Given the description of an element on the screen output the (x, y) to click on. 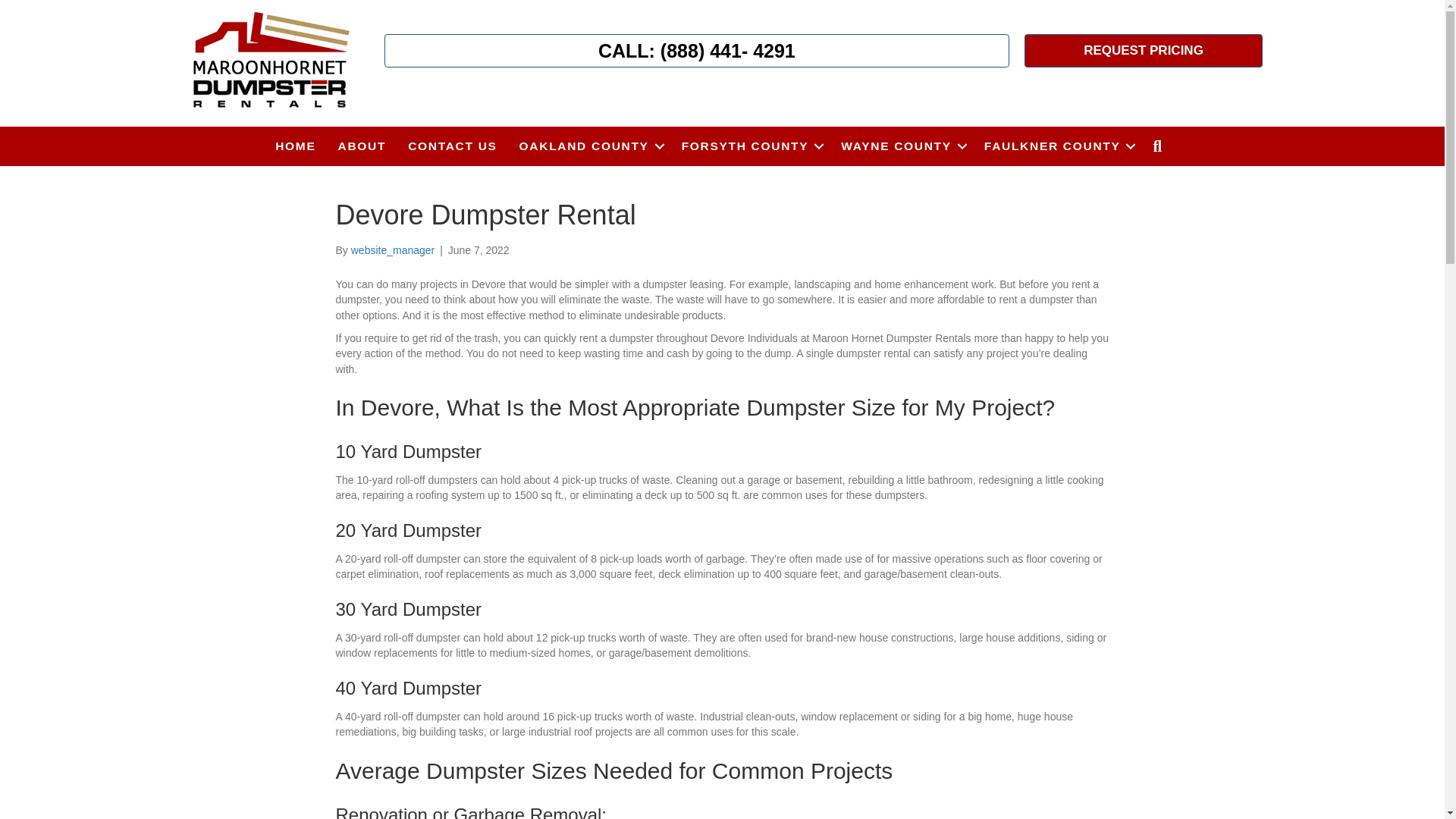
WAYNE COUNTY (900, 146)
CONTACT US (451, 146)
FAULKNER COUNTY (1057, 146)
ABOUT (362, 146)
FORSYTH COUNTY (750, 146)
REQUEST PRICING (1144, 50)
HOME (295, 146)
rental (269, 61)
OAKLAND COUNTY (588, 146)
